Given the description of an element on the screen output the (x, y) to click on. 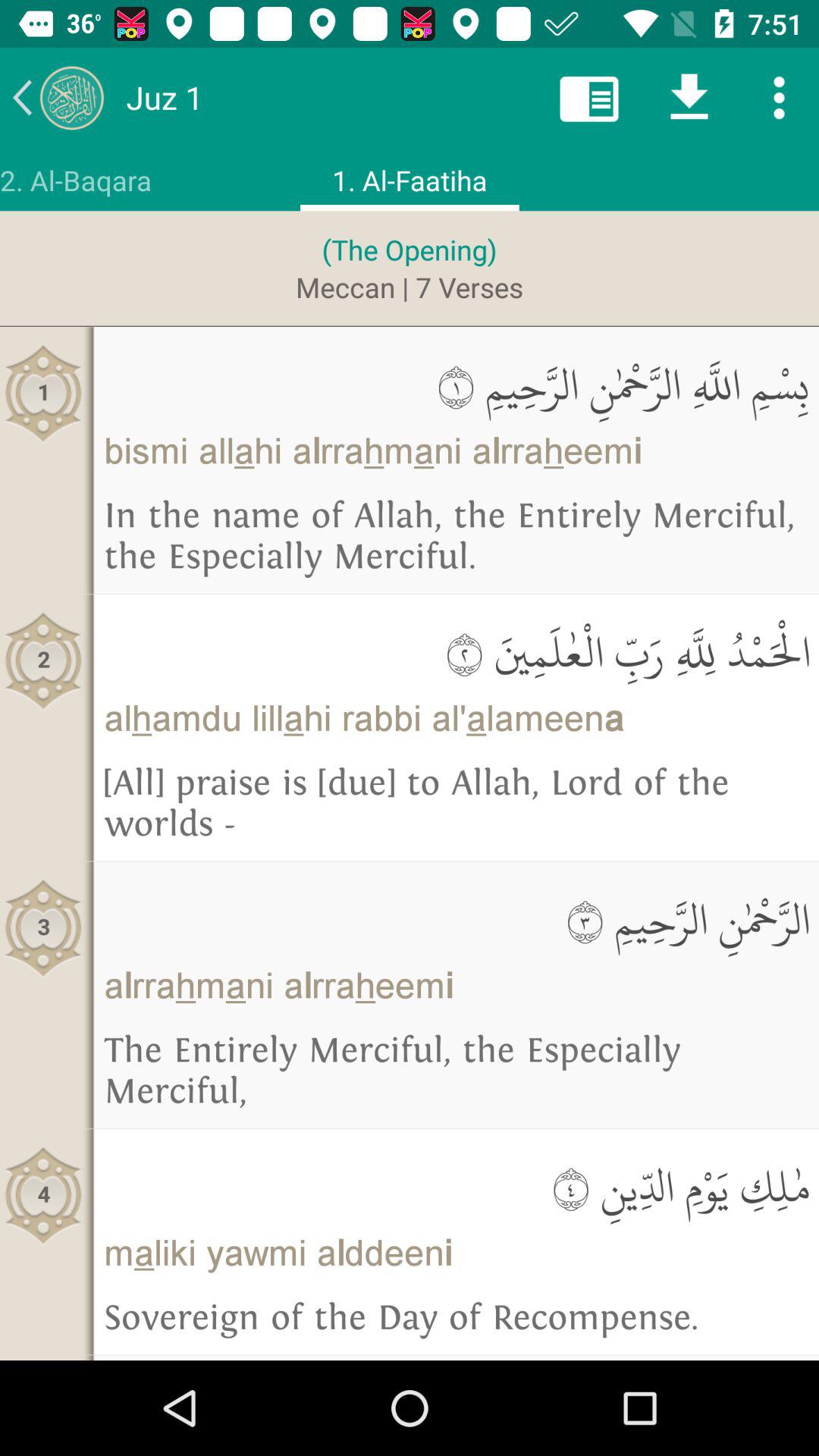
open the icon below (the opening) icon (409, 286)
